Given the description of an element on the screen output the (x, y) to click on. 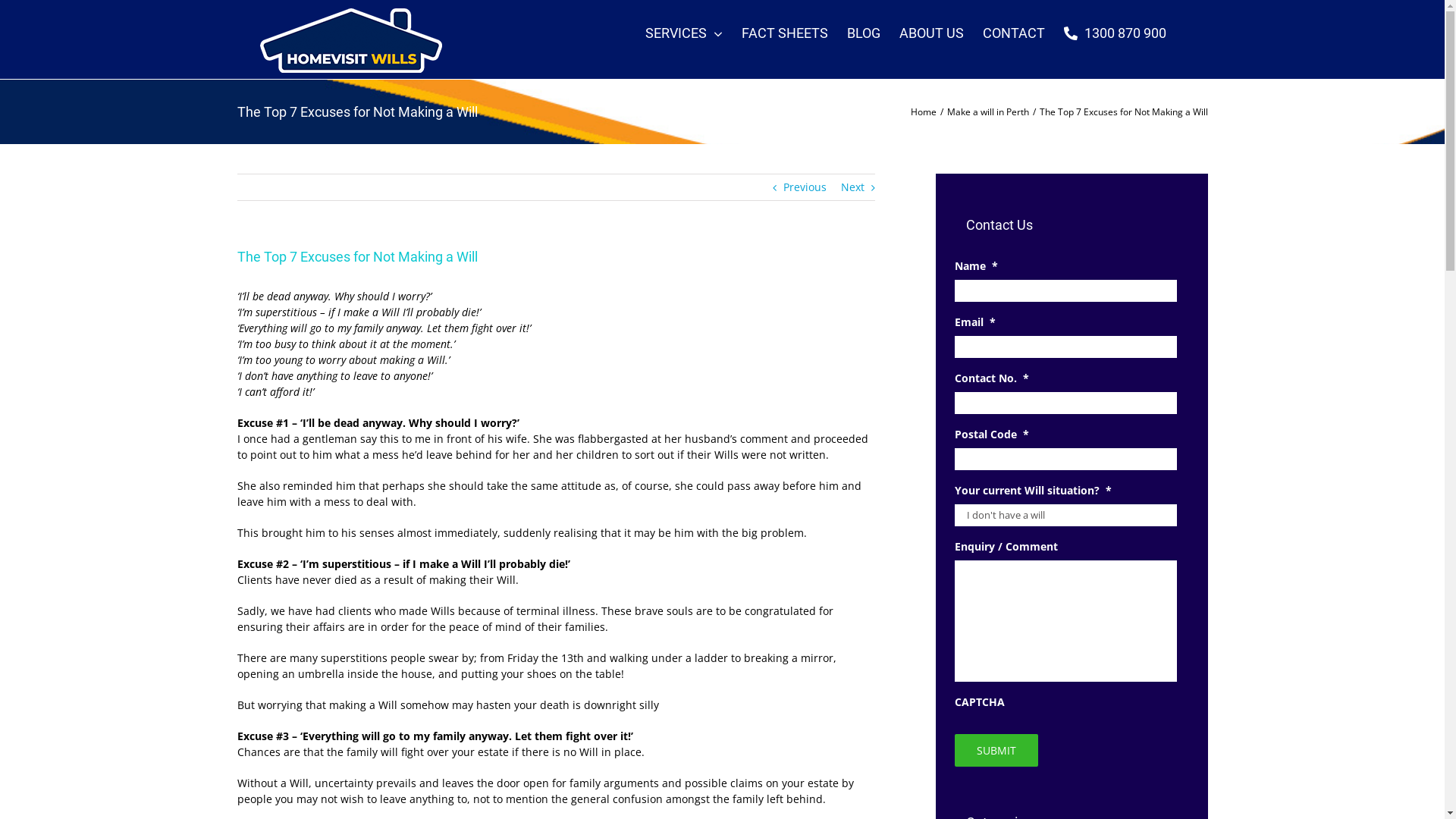
Make a will in Perth Element type: text (987, 111)
Home Element type: text (922, 111)
Submit Element type: text (996, 750)
BLOG Element type: text (862, 32)
FACT SHEETS Element type: text (784, 32)
1300 870 900 Element type: text (1114, 32)
Previous Element type: text (804, 187)
CONTACT Element type: text (1013, 32)
SERVICES Element type: text (682, 32)
ABOUT US Element type: text (931, 32)
Next Element type: text (852, 187)
